Given the description of an element on the screen output the (x, y) to click on. 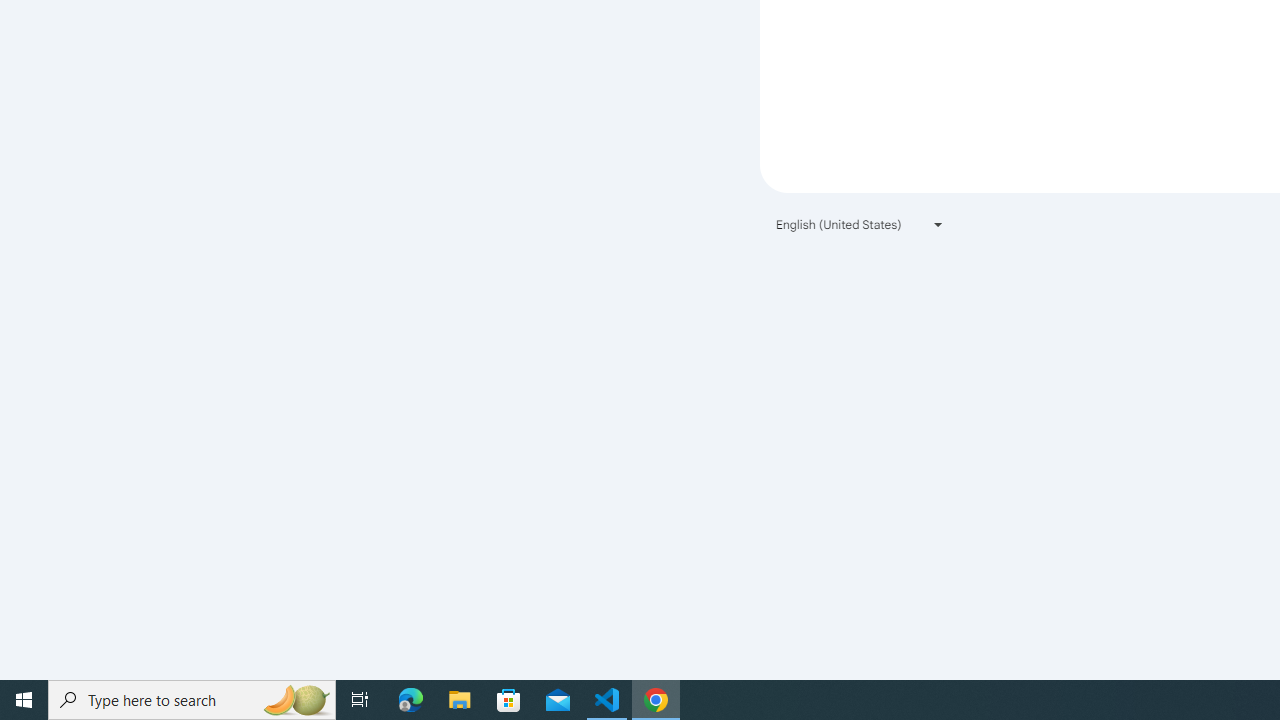
English (United States) (860, 224)
